Given the description of an element on the screen output the (x, y) to click on. 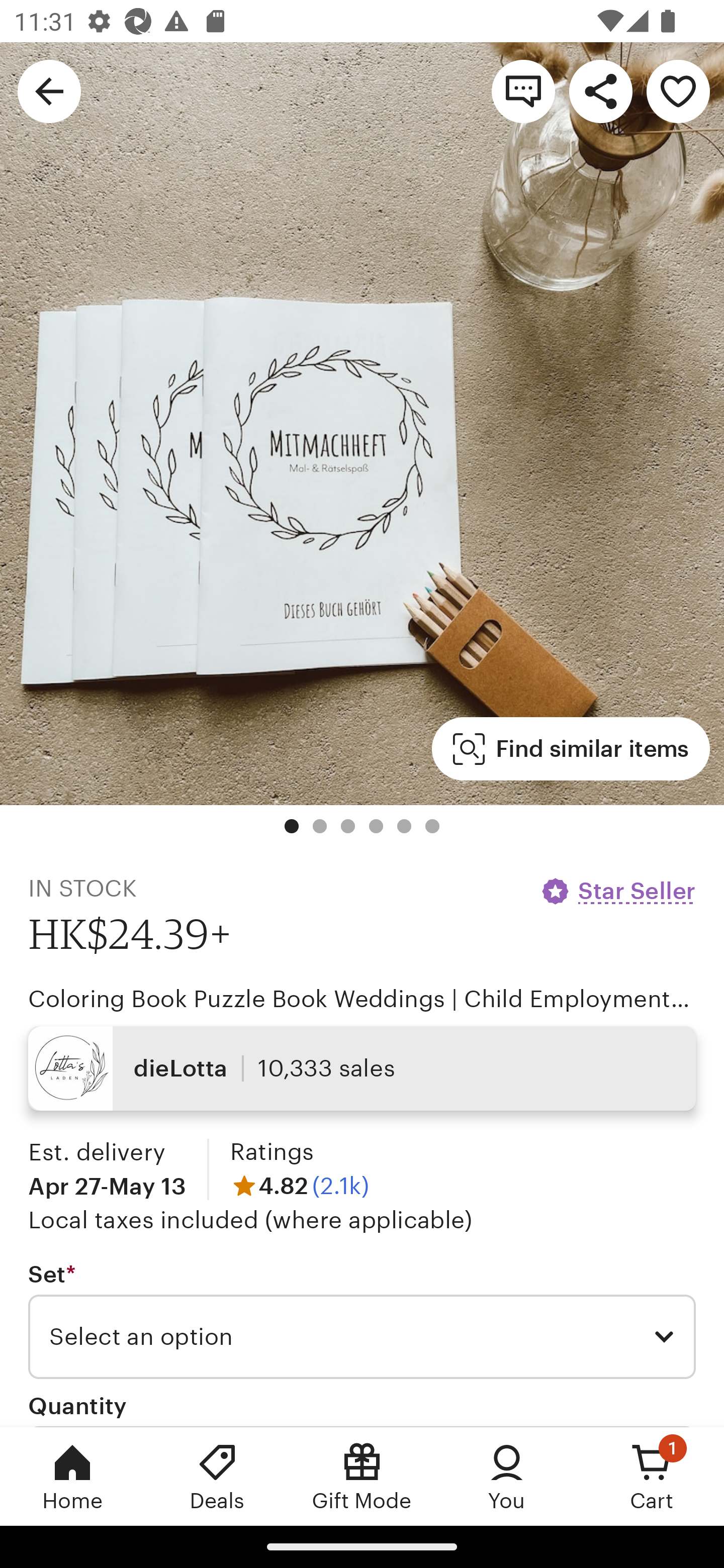
Navigate up (49, 90)
Contact shop (523, 90)
Share (600, 90)
Find similar items (571, 748)
Star Seller (617, 890)
dieLotta 10,333 sales (361, 1067)
Ratings (272, 1151)
4.82 (2.1k) (299, 1185)
Set * Required Select an option (361, 1319)
Select an option (361, 1336)
Quantity (77, 1405)
Deals (216, 1475)
Gift Mode (361, 1475)
You (506, 1475)
Cart, 1 new notification Cart (651, 1475)
